Given the description of an element on the screen output the (x, y) to click on. 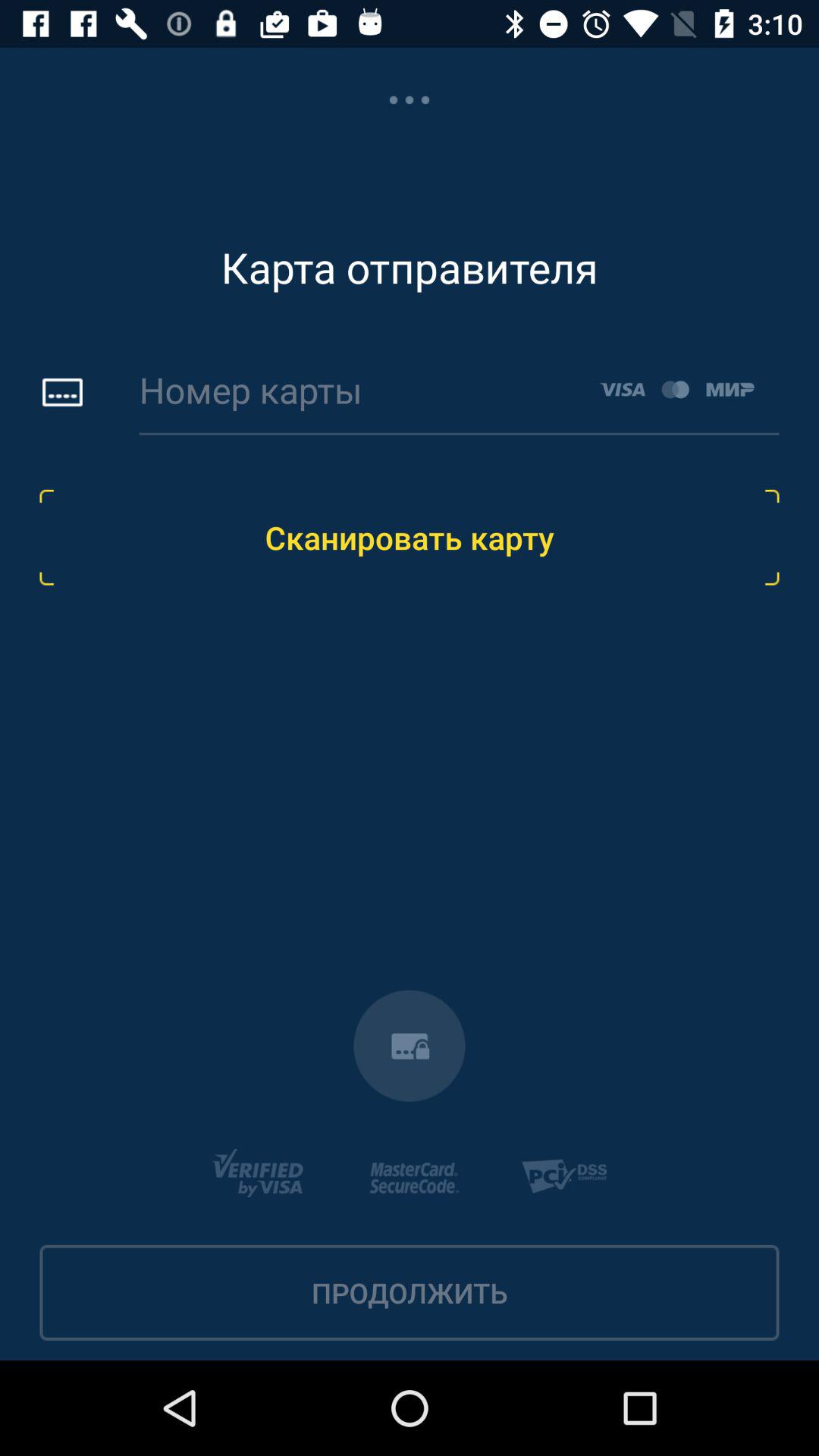
turn on button at the center (409, 537)
